Given the description of an element on the screen output the (x, y) to click on. 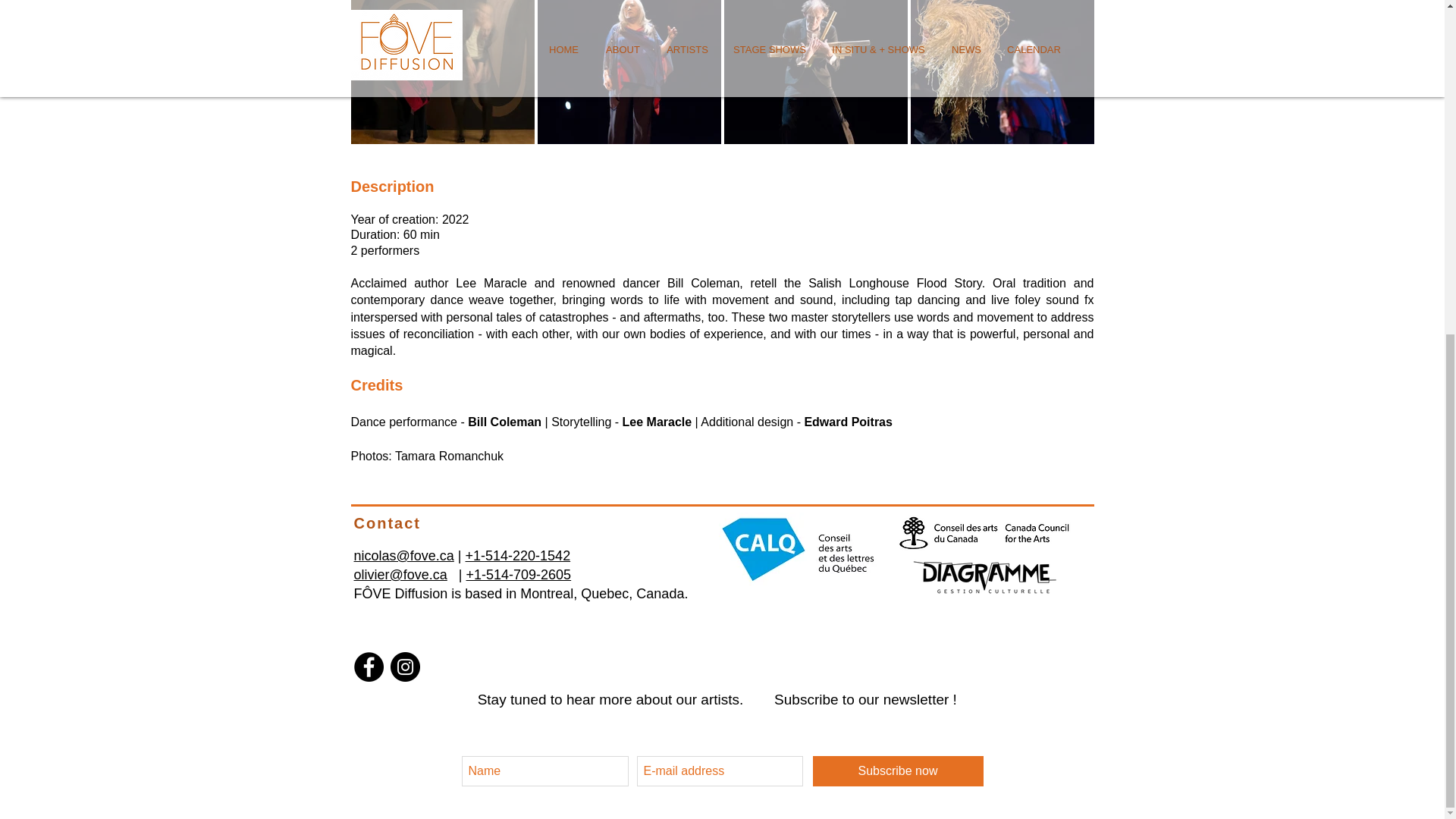
Subscribe now (898, 770)
